Given the description of an element on the screen output the (x, y) to click on. 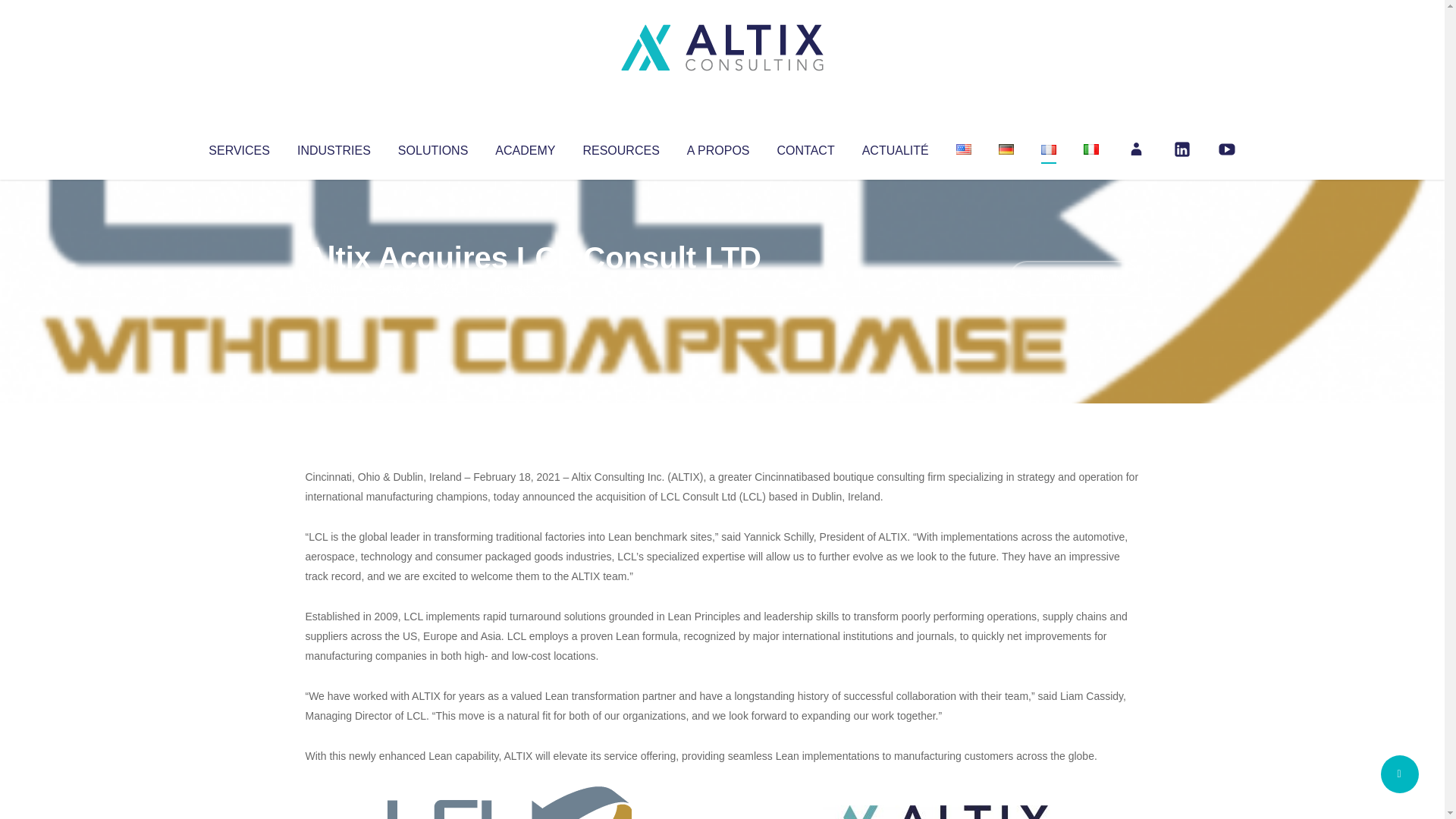
ACADEMY (524, 146)
INDUSTRIES (334, 146)
SOLUTIONS (432, 146)
A PROPOS (718, 146)
Altix (333, 287)
Uncategorized (530, 287)
Articles par Altix (333, 287)
SERVICES (238, 146)
No Comments (1073, 278)
RESOURCES (620, 146)
